Given the description of an element on the screen output the (x, y) to click on. 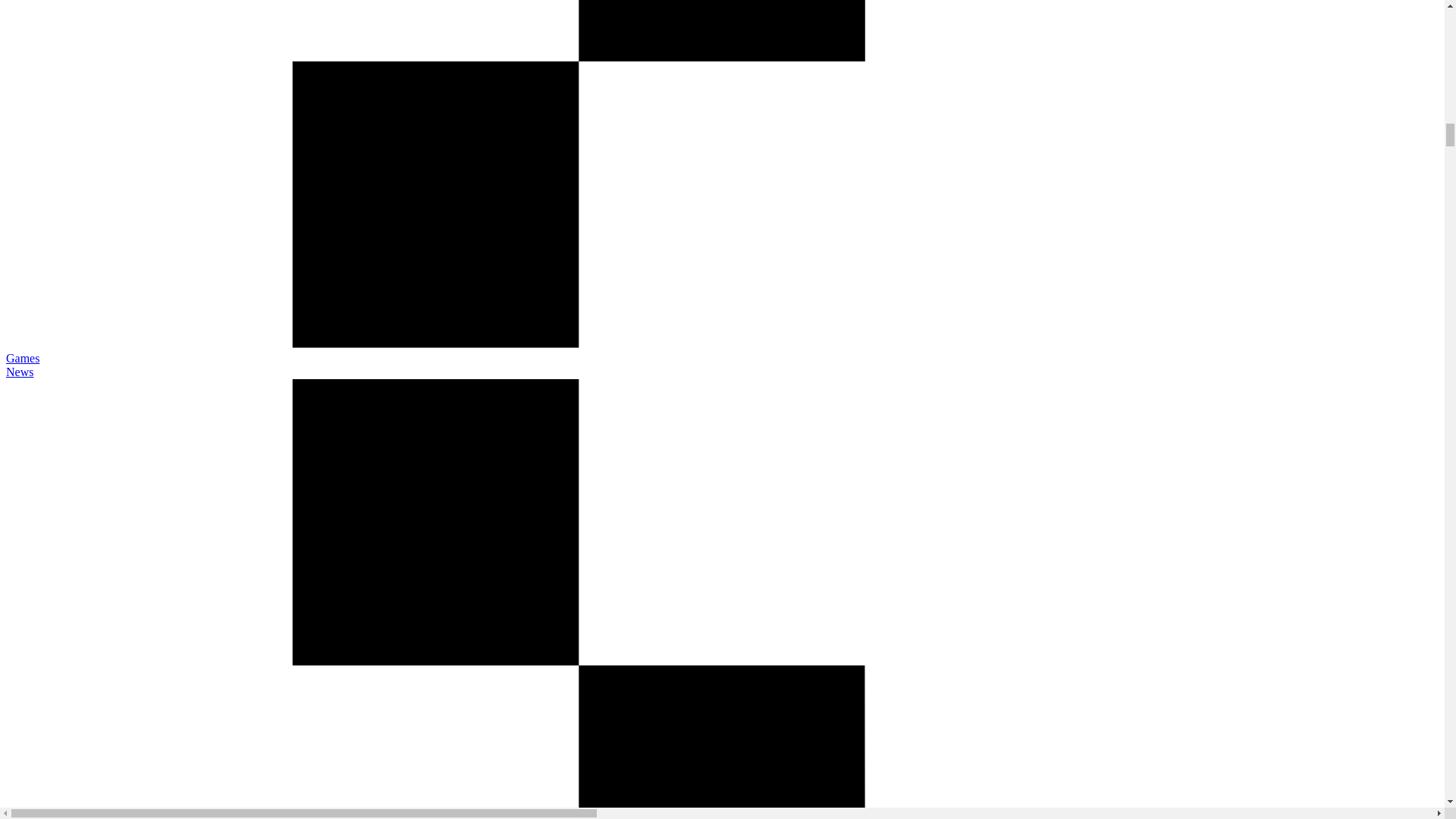
Games (22, 358)
